Given the description of an element on the screen output the (x, y) to click on. 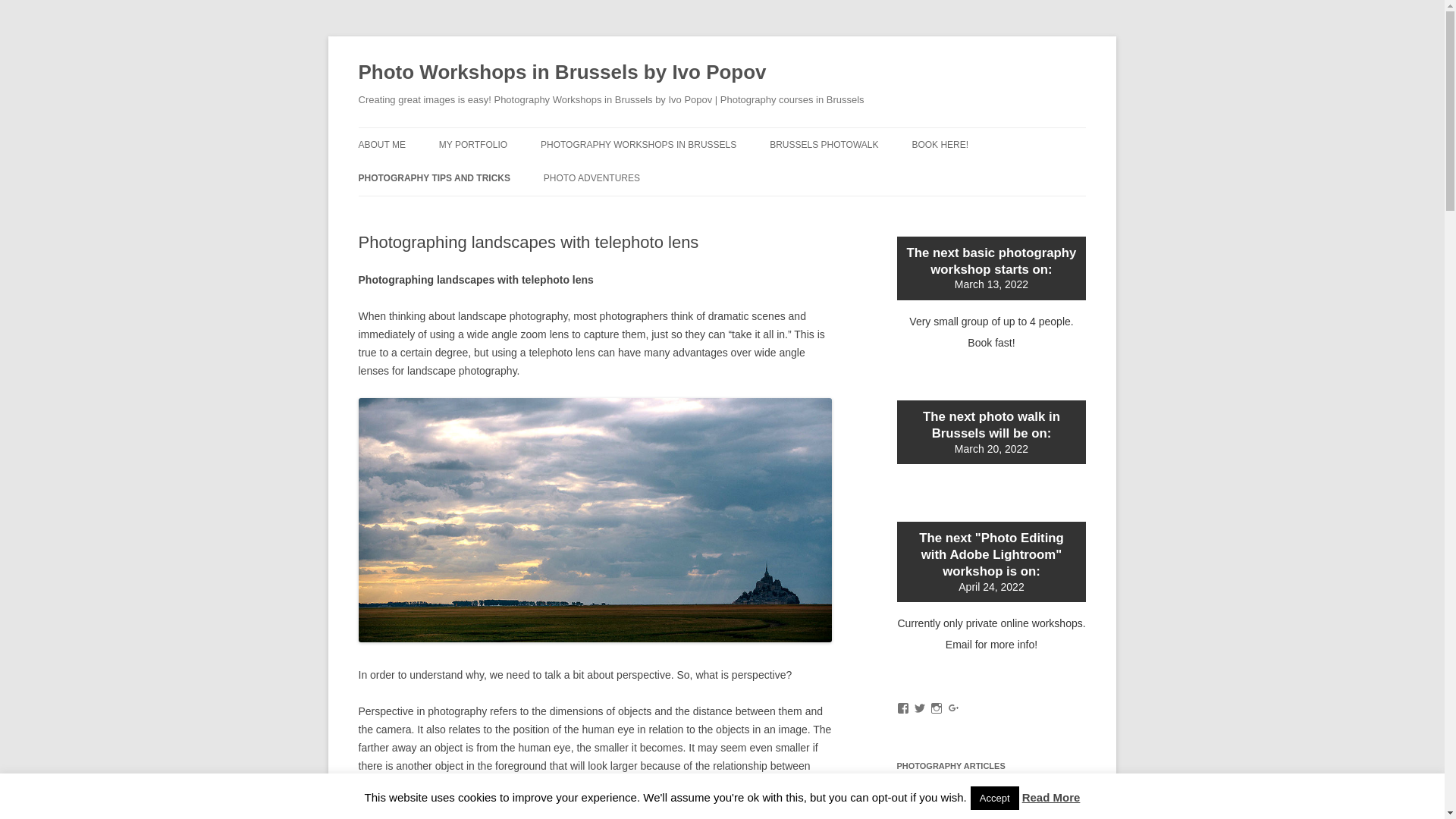
PHOTOGRAPHY TIPS AND TRICKS (433, 177)
Photo Workshops in Brussels by Ivo Popov (561, 72)
BRUSSELS PHOTOWALK (823, 144)
PHOTOGRAPHY WORKSHOPS IN BRUSSELS (638, 144)
Photo Workshops in Brussels by Ivo Popov (561, 72)
BOOK HERE! (939, 144)
PRIVACY POLICY (433, 176)
ABOUT ME (381, 144)
